Given the description of an element on the screen output the (x, y) to click on. 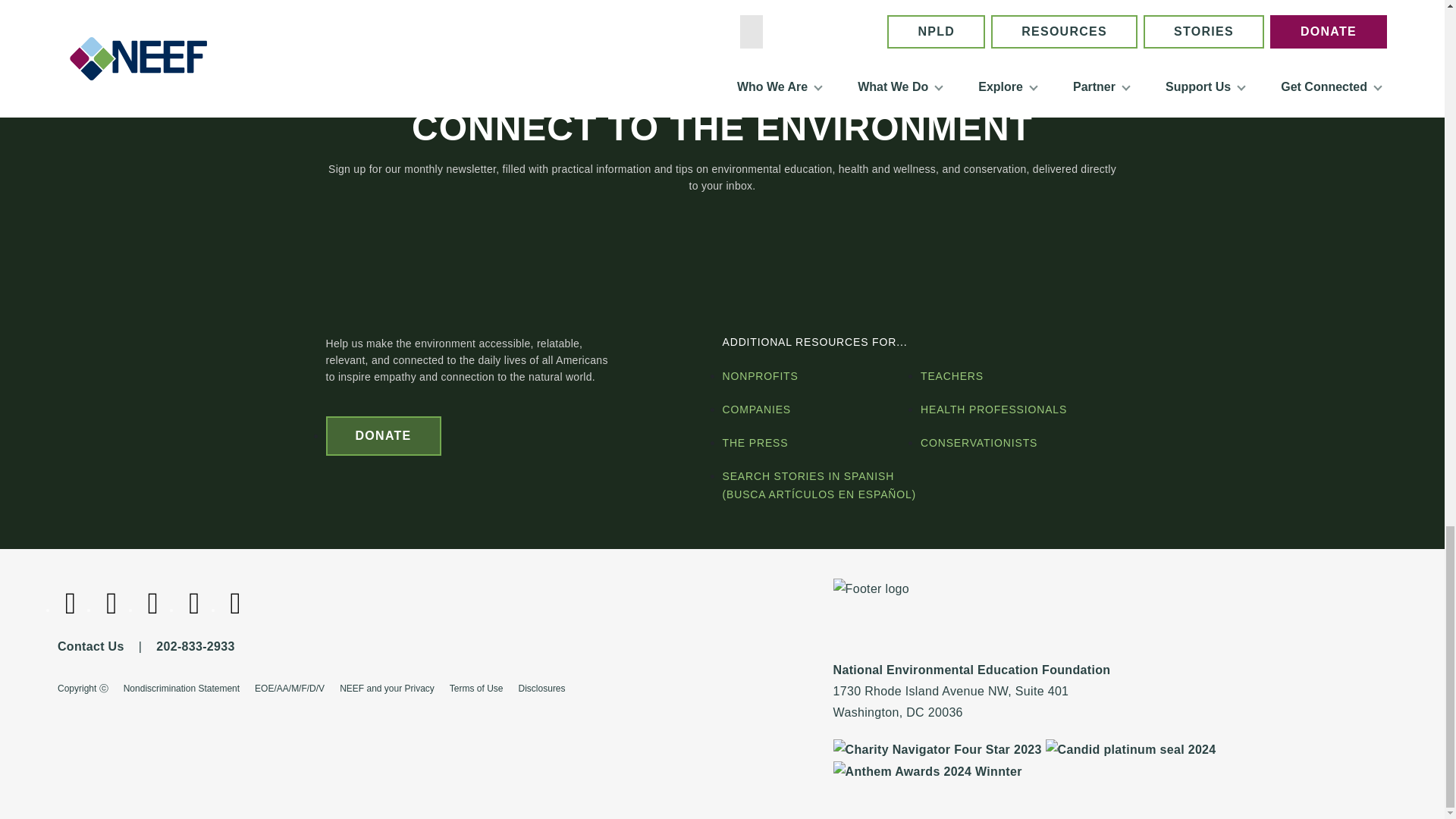
Contact Us (90, 645)
Button (383, 435)
